Given the description of an element on the screen output the (x, y) to click on. 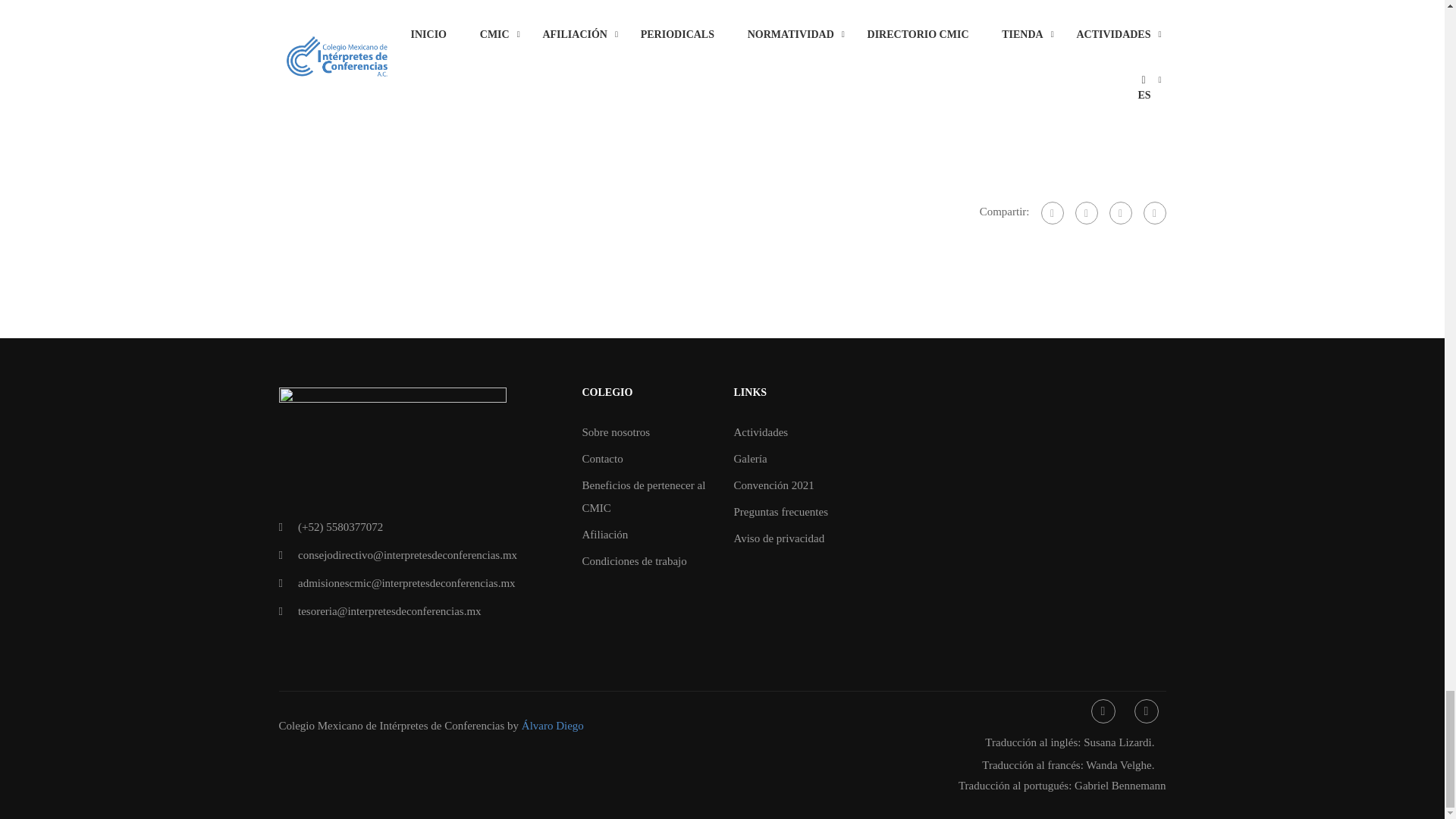
Google Plus (1086, 212)
Facebook (1051, 212)
Pinterest (1154, 212)
Twitter (1119, 212)
